Given the description of an element on the screen output the (x, y) to click on. 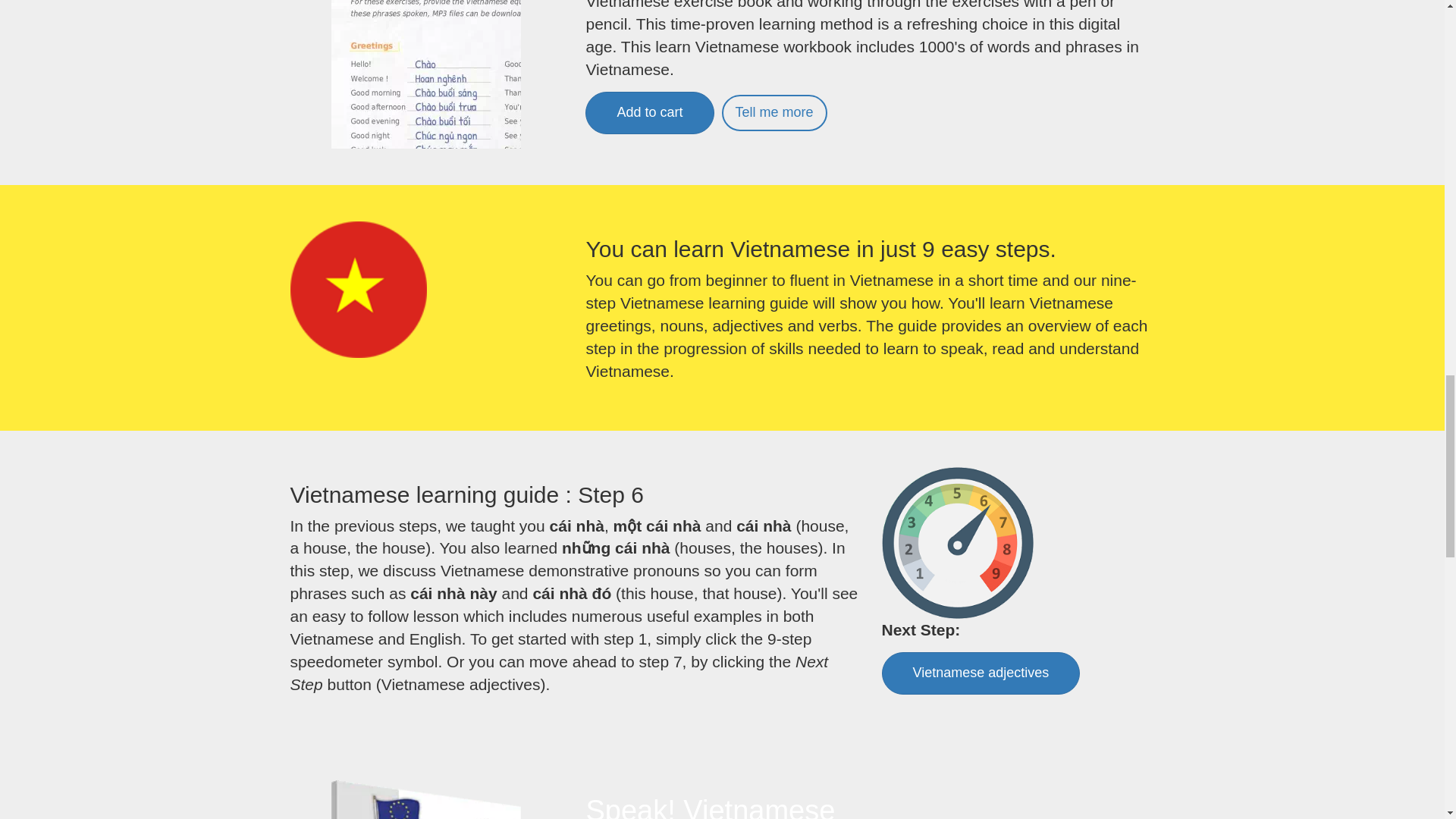
Vietnamese adjectives (980, 672)
Learn Vietnamese book - PDF Workbook in Vietnamese (774, 113)
Tell me more (774, 113)
Add to cart (649, 112)
Click me (357, 289)
PDF Workbook in Vietnamese (426, 74)
Learn Vietnamese book - PDF Workbook in Vietnamese (649, 112)
